Given the description of an element on the screen output the (x, y) to click on. 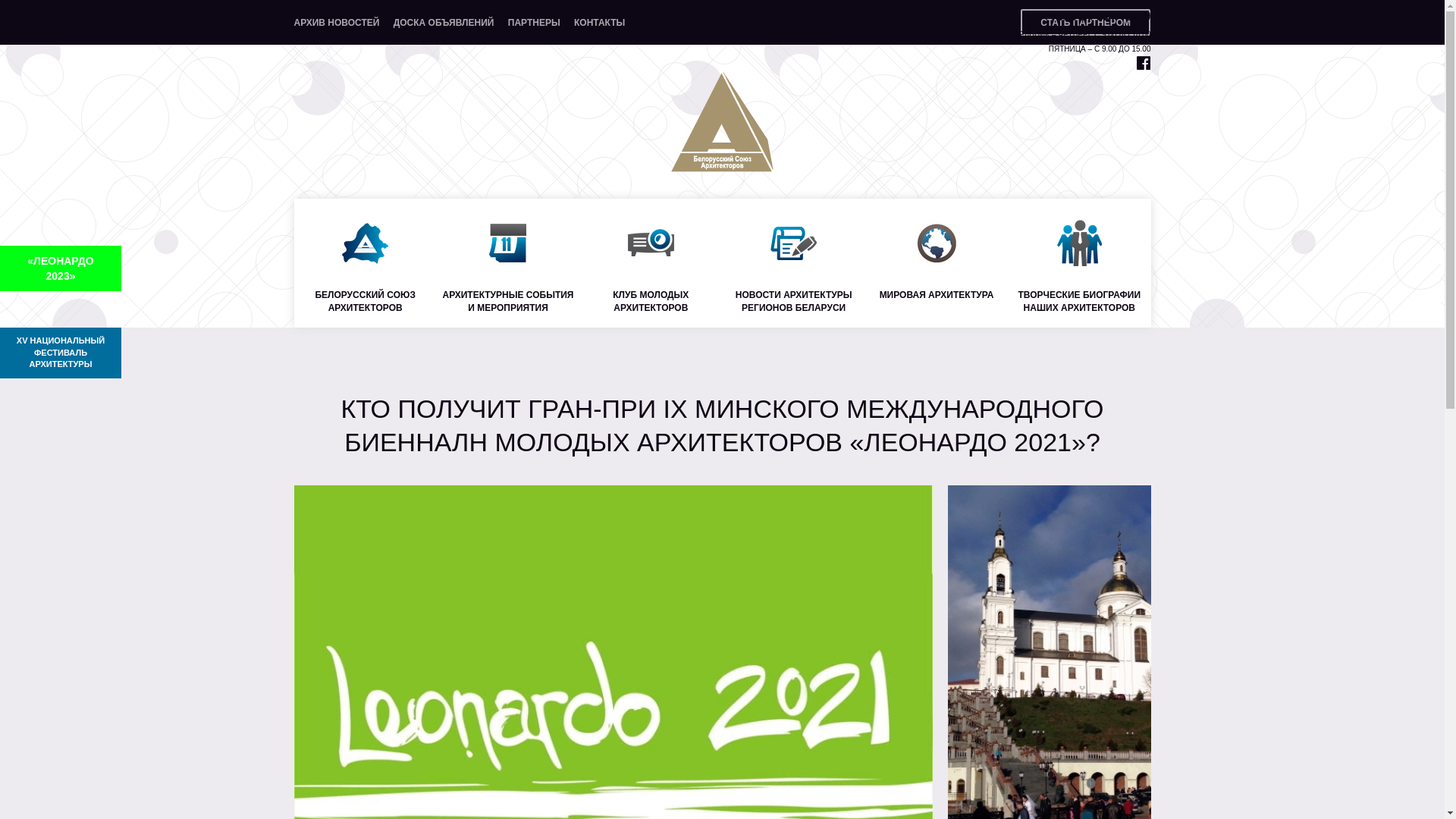
+375 17 327 71 20 Element type: text (1100, 15)
